Given the description of an element on the screen output the (x, y) to click on. 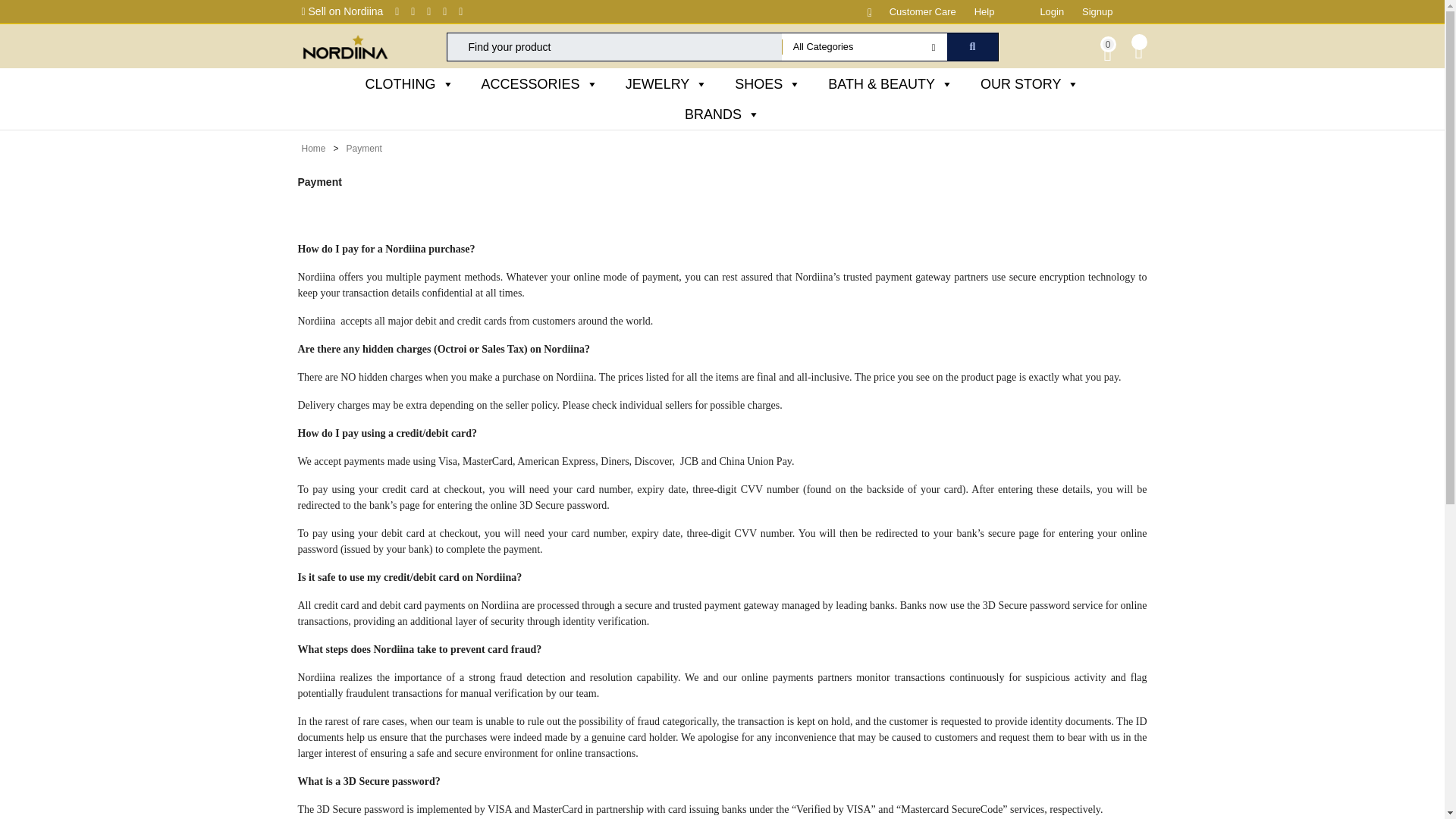
CLOTHING (409, 83)
Signup (1096, 11)
Sell on Nordiina (342, 10)
Help (984, 11)
Login (1051, 11)
Customer Care (922, 11)
. (861, 11)
